Given the description of an element on the screen output the (x, y) to click on. 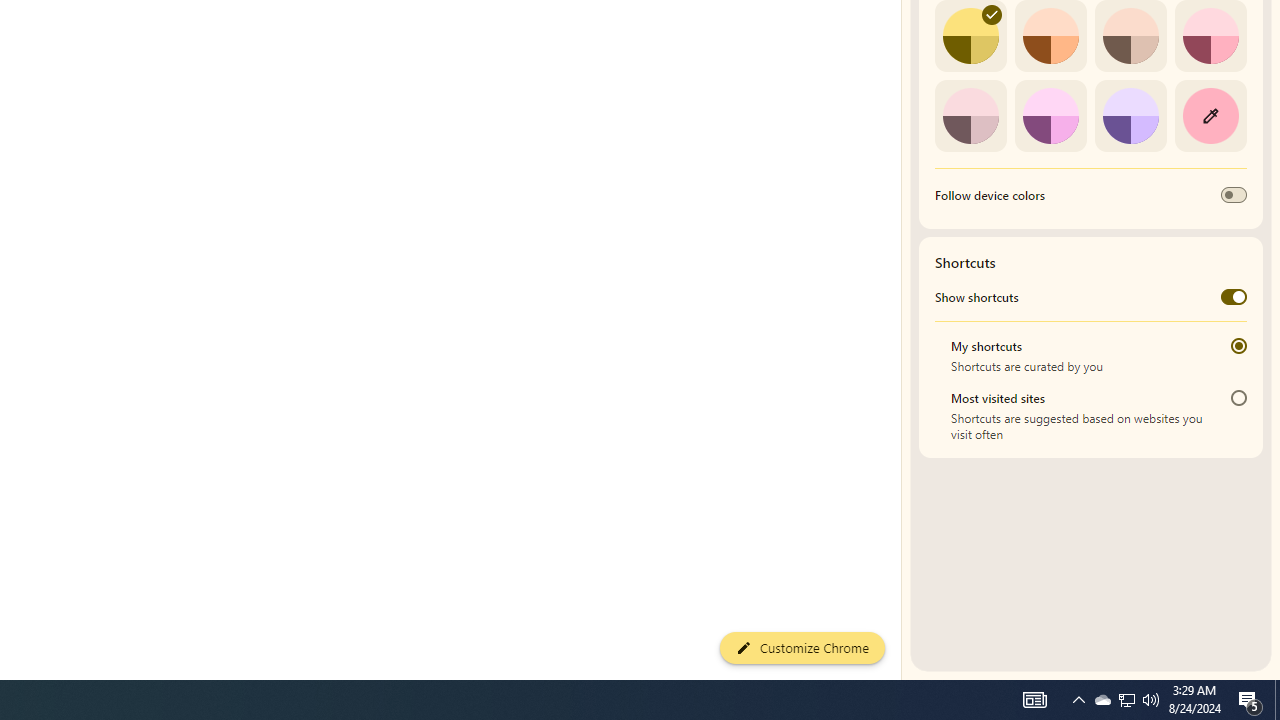
Rose (1210, 36)
Most visited sites (1238, 398)
Customize Chrome (801, 647)
Pink (970, 115)
Apricot (1130, 36)
Orange (1050, 36)
Citron (970, 36)
Custom color (1210, 115)
AutomationID: svg (991, 15)
Show shortcuts (1233, 296)
My shortcuts (1238, 345)
Fuchsia (1050, 115)
Follow device colors (1233, 195)
Violet (1130, 115)
